Given the description of an element on the screen output the (x, y) to click on. 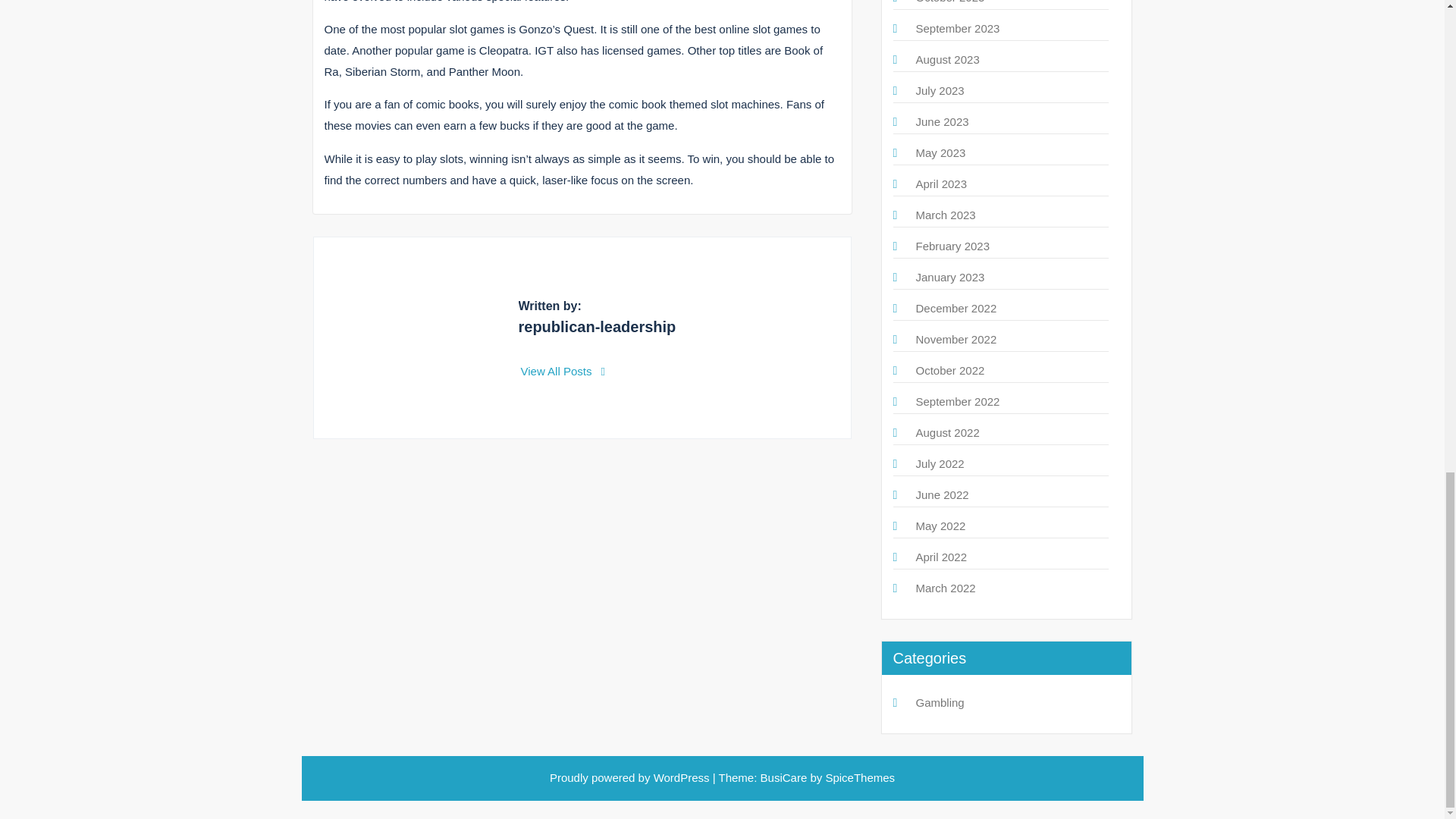
December 2022 (956, 308)
October 2023 (950, 2)
February 2023 (952, 245)
September 2022 (957, 400)
View All Posts (562, 370)
July 2023 (939, 90)
May 2023 (940, 152)
October 2022 (950, 369)
March 2023 (945, 214)
September 2023 (957, 28)
November 2022 (956, 338)
January 2023 (950, 277)
August 2022 (947, 431)
August 2023 (947, 59)
April 2023 (941, 183)
